Given the description of an element on the screen output the (x, y) to click on. 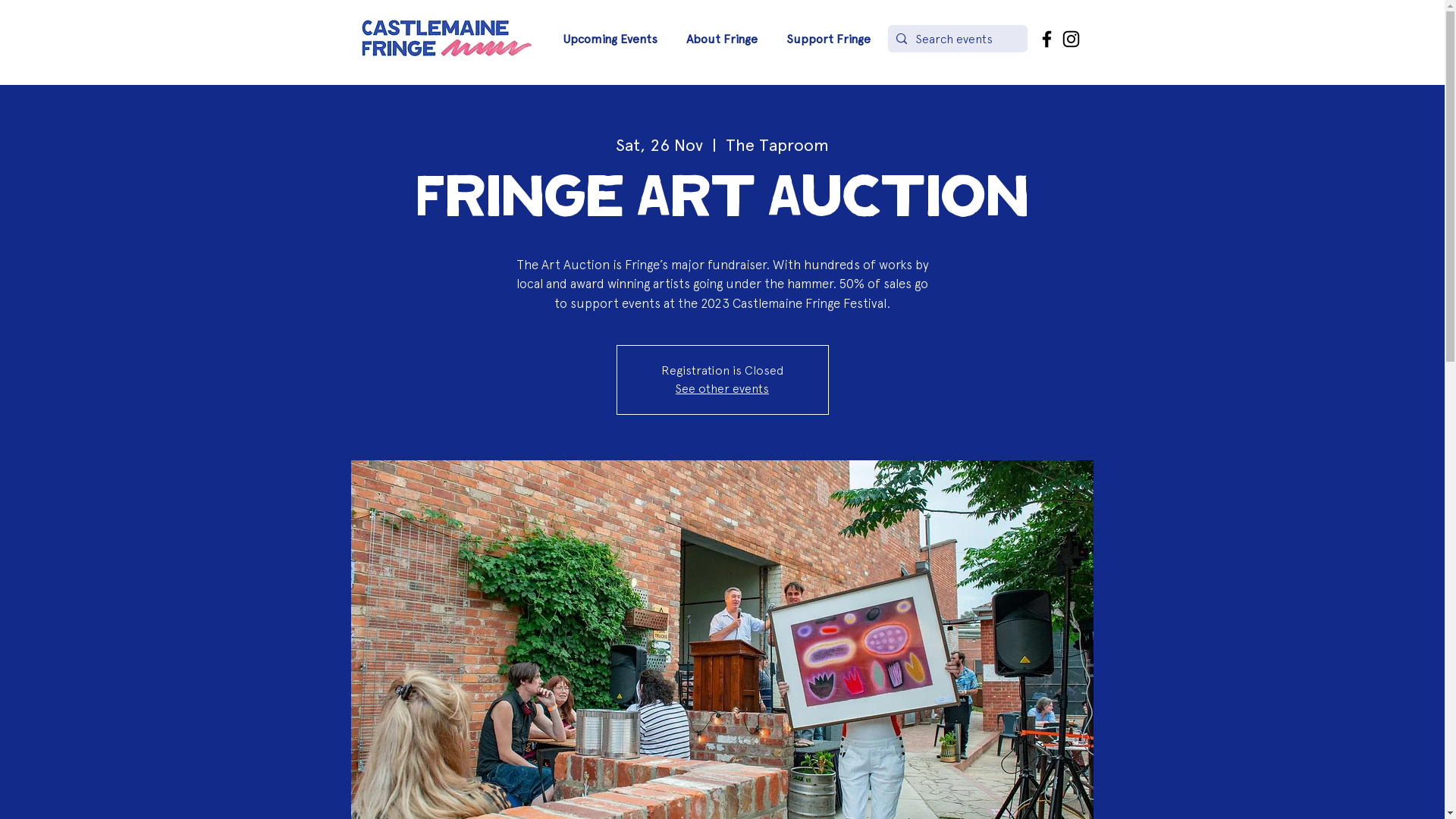
Fringe-Logo-2023-colour.jpg Element type: hover (447, 38)
Support Fringe Element type: text (824, 39)
See other events Element type: text (721, 388)
About Fringe Element type: text (718, 39)
TWIPLA (Visitor Analytics) Element type: hover (1442, 4)
Upcoming Events Element type: text (606, 39)
